Given the description of an element on the screen output the (x, y) to click on. 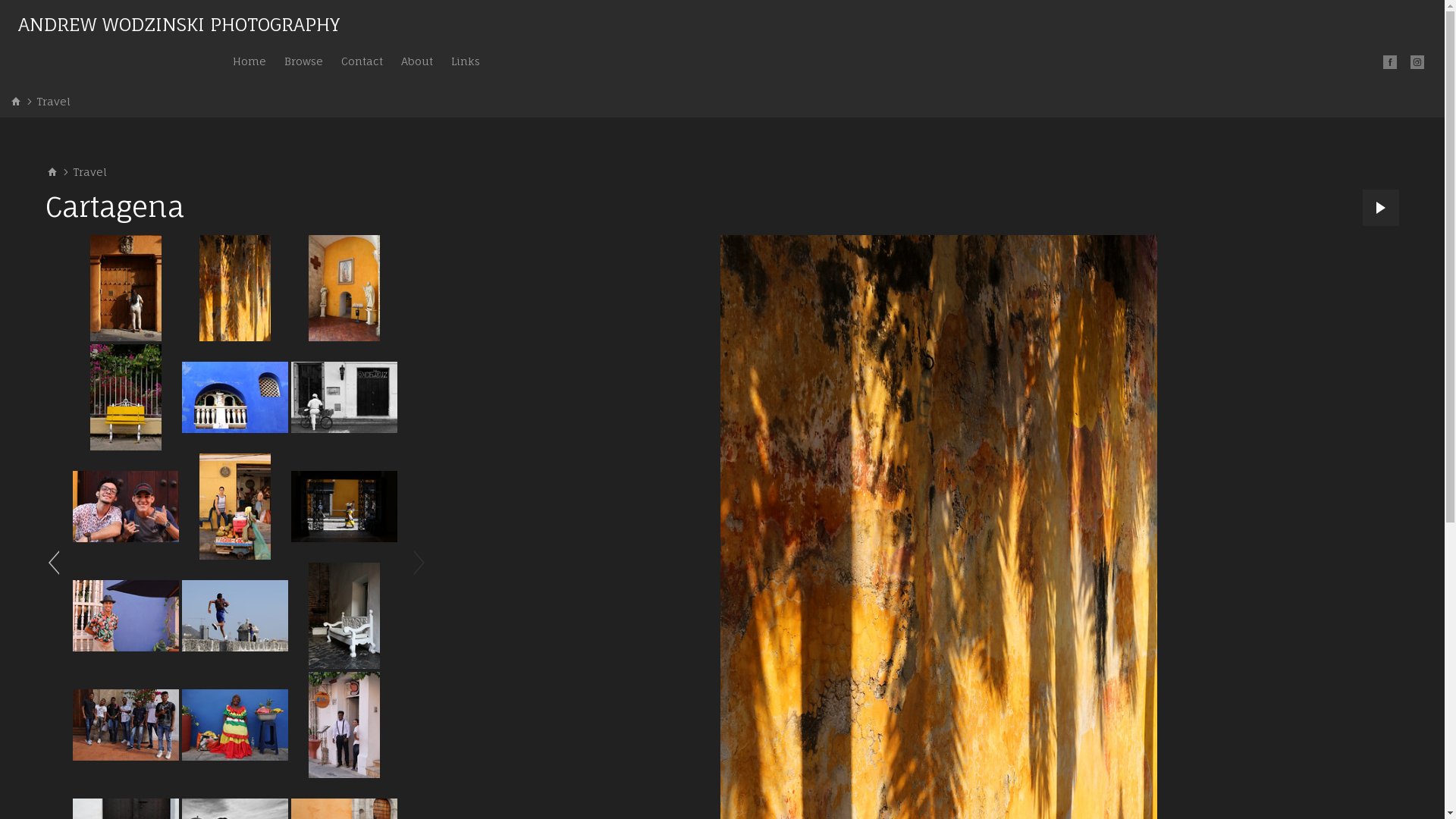
Links Element type: text (465, 60)
Slideshow Element type: hover (1380, 207)
Home Element type: text (249, 60)
ANDREW WODZINSKI PHOTOGRAPHY Element type: text (178, 26)
Browse Element type: text (303, 60)
Travel Element type: text (89, 171)
Travel Element type: text (53, 100)
Contact Element type: text (361, 60)
About Element type: text (417, 60)
